Given the description of an element on the screen output the (x, y) to click on. 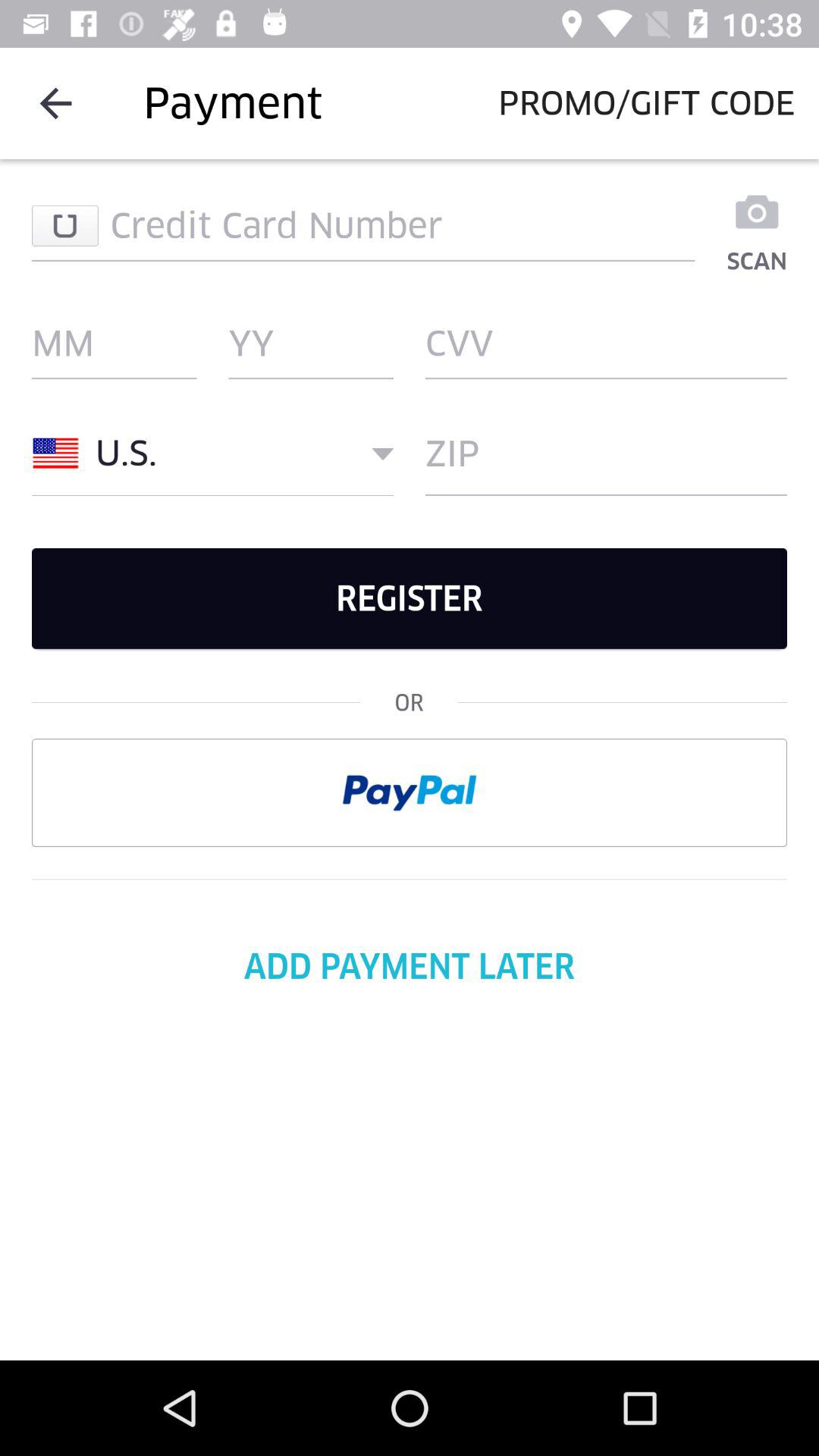
enter data in a text field (363, 225)
